Given the description of an element on the screen output the (x, y) to click on. 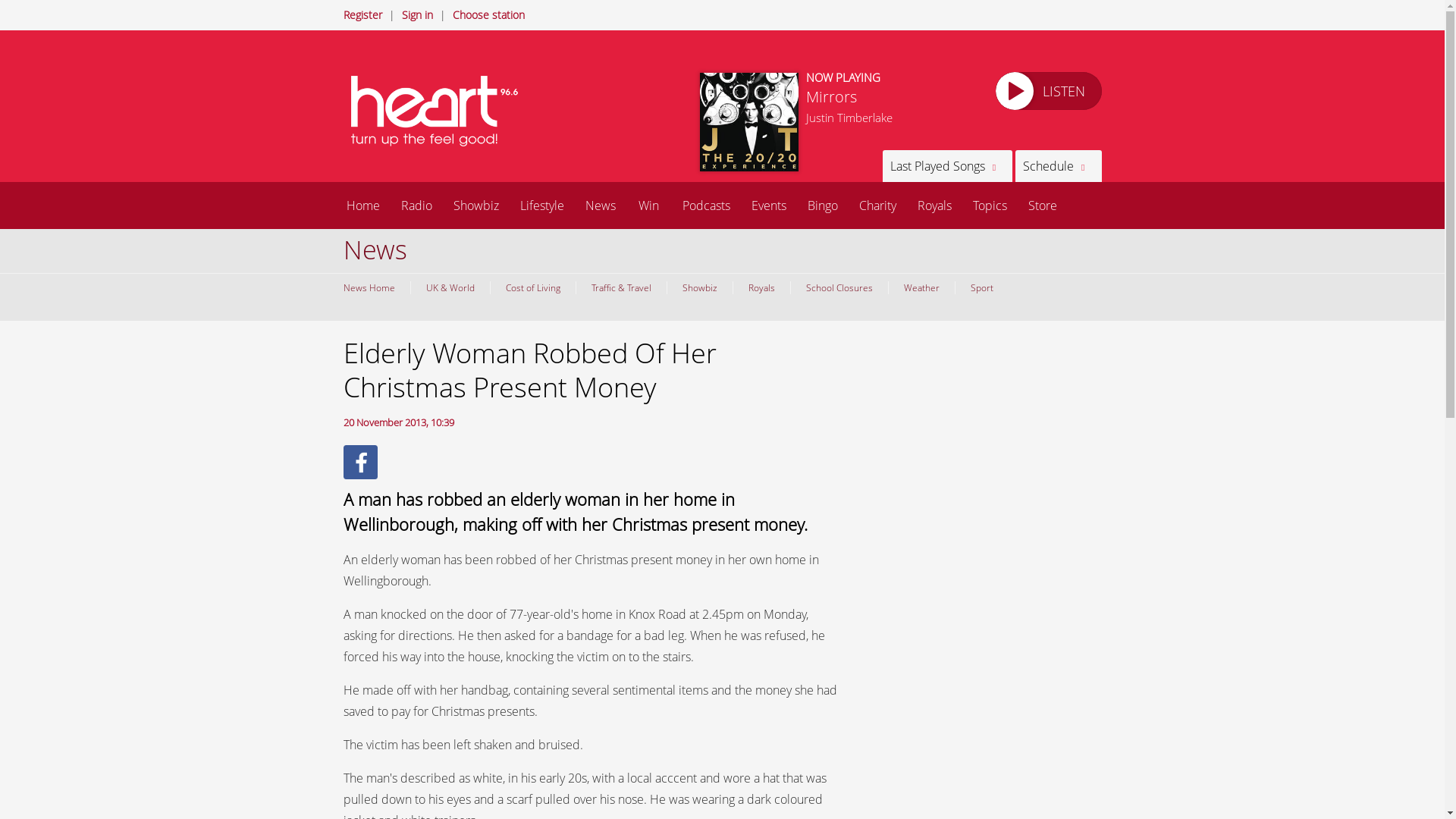
Topics (988, 205)
Weather (919, 287)
Events (767, 205)
Sport (980, 287)
Home (362, 205)
Schedule (1057, 165)
Royals (761, 287)
Bingo (821, 205)
Heart Northamptonshire (441, 111)
Cost of Living (532, 287)
